Given the description of an element on the screen output the (x, y) to click on. 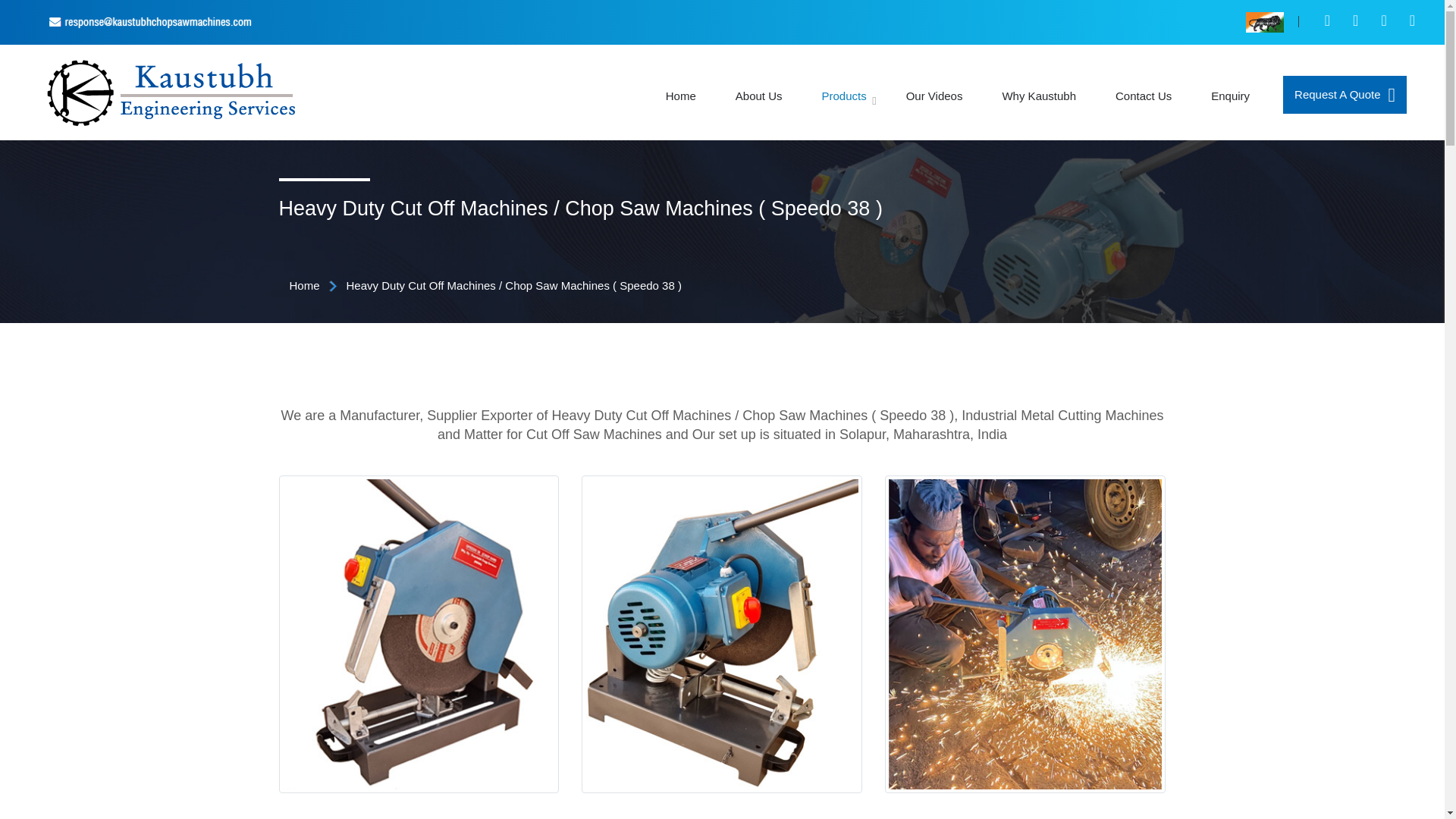
Home (304, 285)
Request A Quote (1344, 94)
Why Kaustubh (1038, 89)
